Given the description of an element on the screen output the (x, y) to click on. 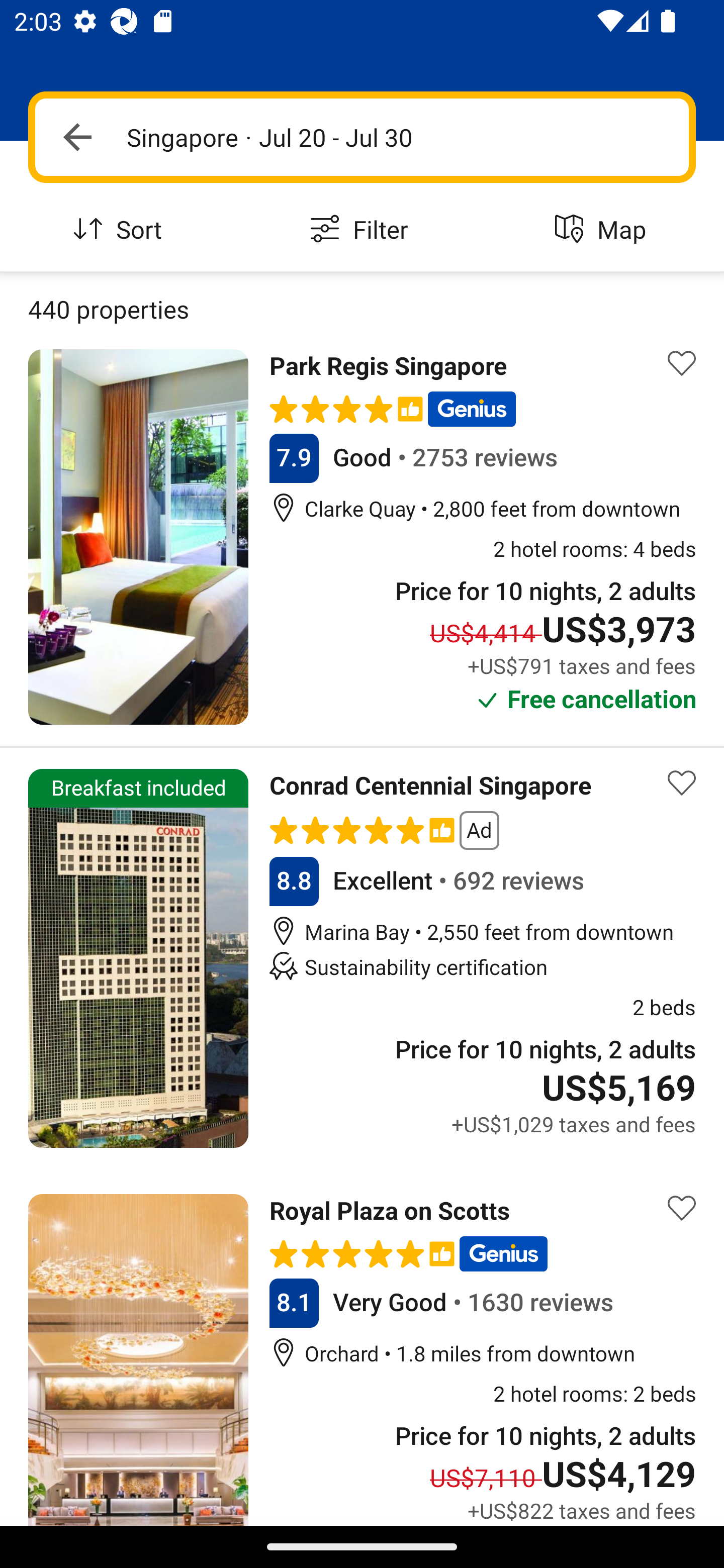
Navigate up Singapore · Jul 20 - Jul 30 (362, 136)
Navigate up (77, 136)
Sort (120, 230)
Filter (361, 230)
Map (603, 230)
Save property to list (681, 363)
Save property to list (681, 782)
Save property to list (681, 1207)
